Given the description of an element on the screen output the (x, y) to click on. 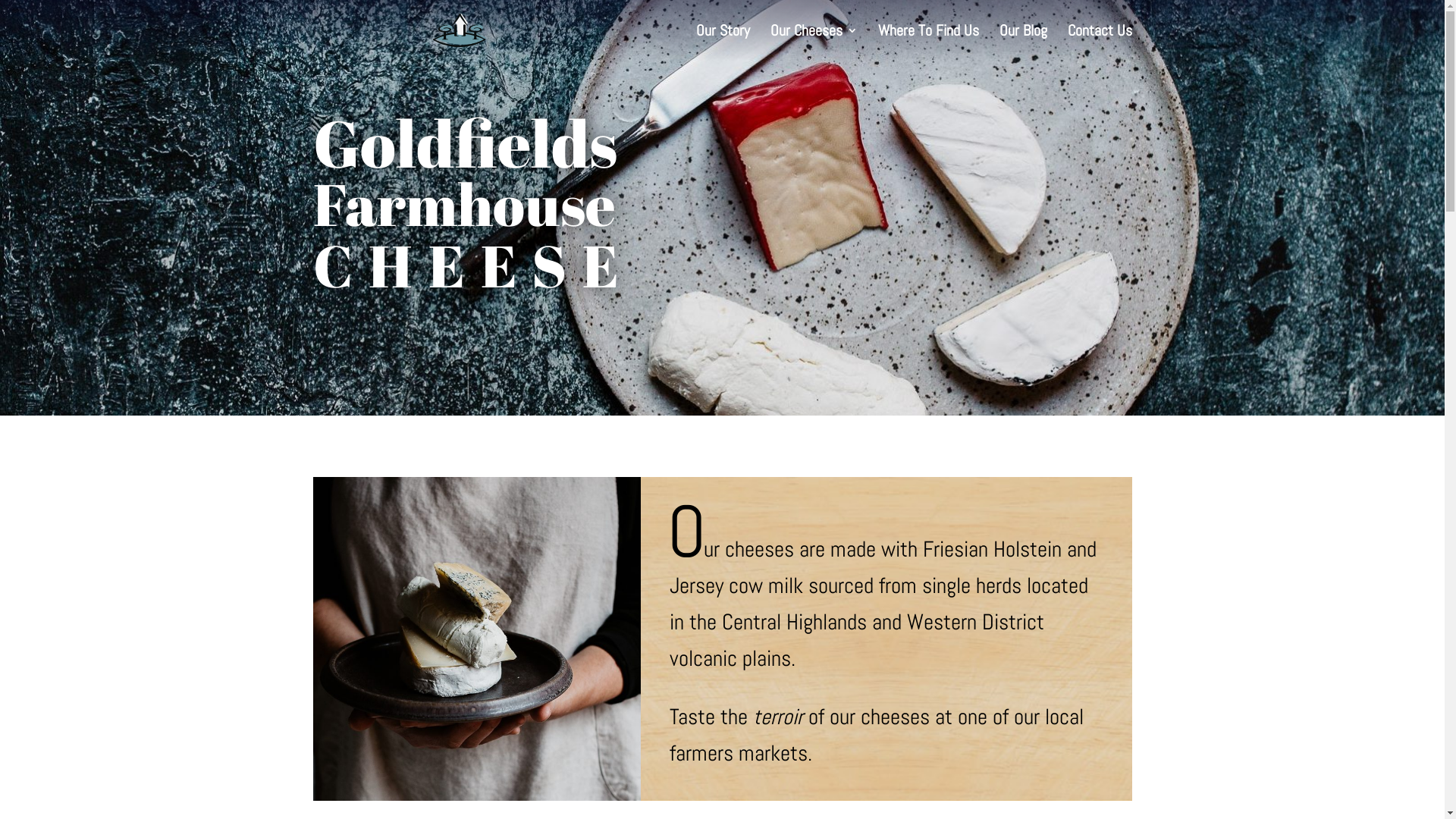
Our Cheeses Element type: text (813, 42)
Contact Us Element type: text (1099, 42)
Our Blog Element type: text (1023, 42)
Our Story Element type: text (722, 42)
Where To Find Us Element type: text (928, 42)
